Given the description of an element on the screen output the (x, y) to click on. 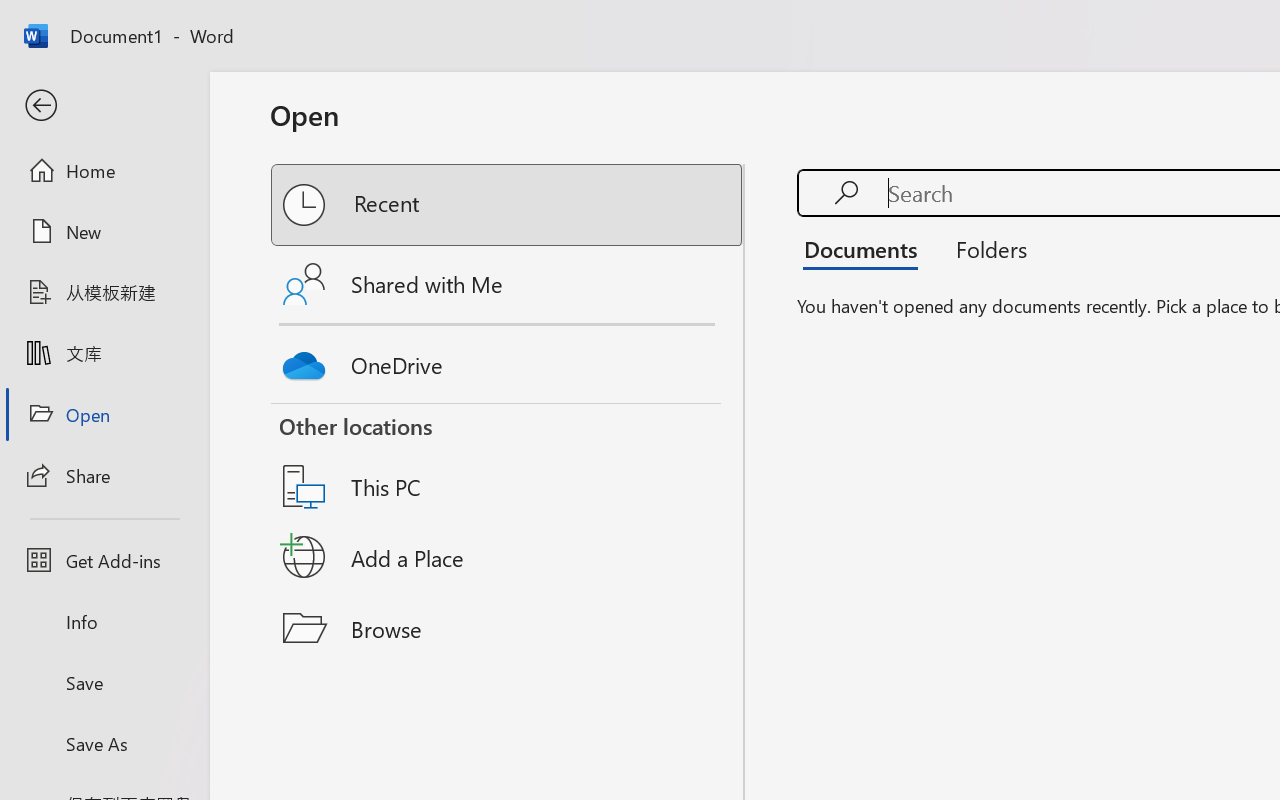
Browse (507, 627)
Add a Place (507, 557)
Shared with Me (507, 283)
